Given the description of an element on the screen output the (x, y) to click on. 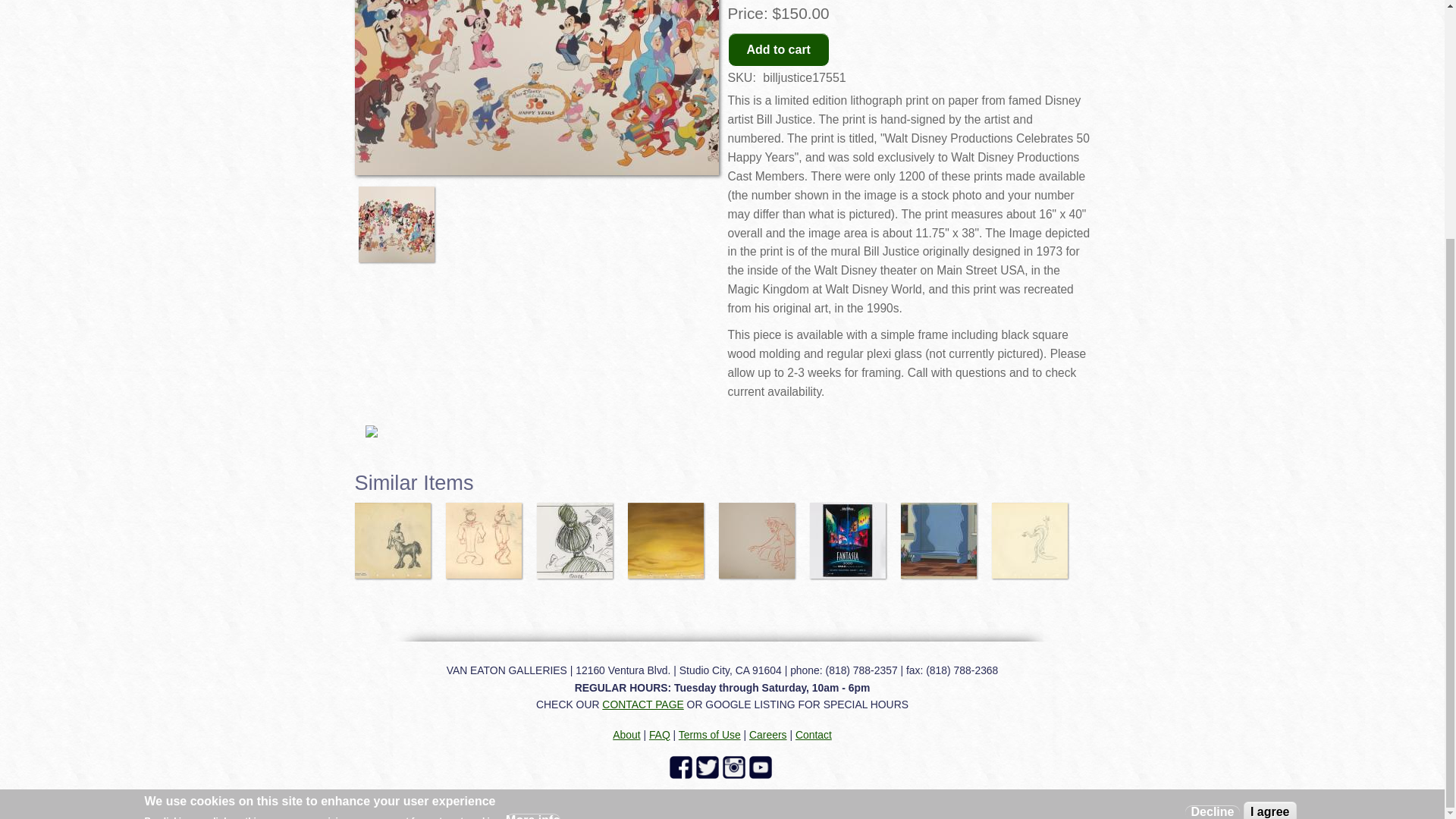
Web and Business Development (1012, 792)
Add to cart (778, 49)
Follow Van Eaton Galleries on YouTube (762, 766)
Follow Van Eaton Galleries on Instagram (735, 766)
About (626, 734)
FAQ (659, 734)
Terms of Use (709, 734)
Follow Van Eaton Galleries on Facebook (681, 766)
